Given the description of an element on the screen output the (x, y) to click on. 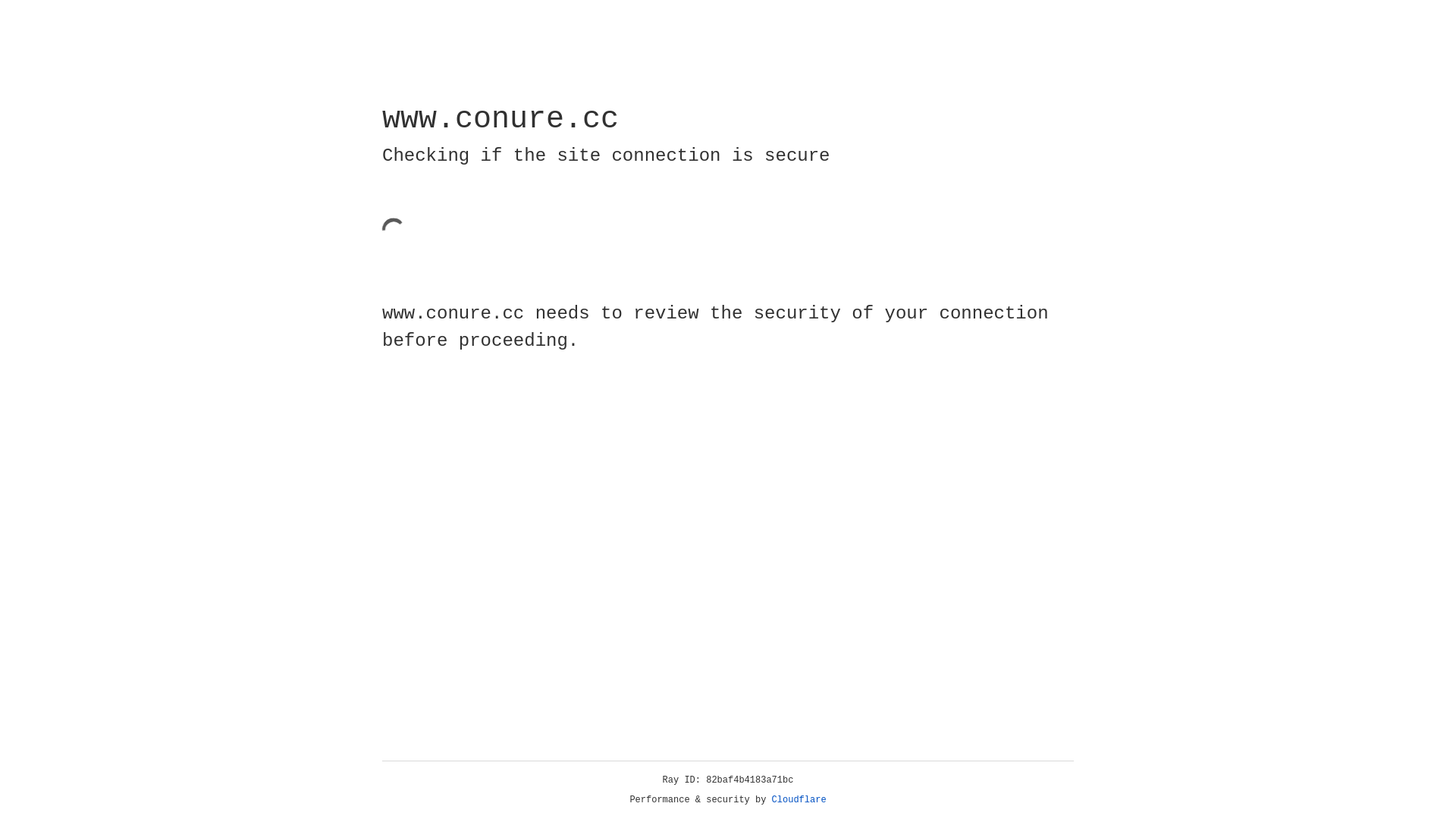
Cloudflare Element type: text (798, 799)
